Given the description of an element on the screen output the (x, y) to click on. 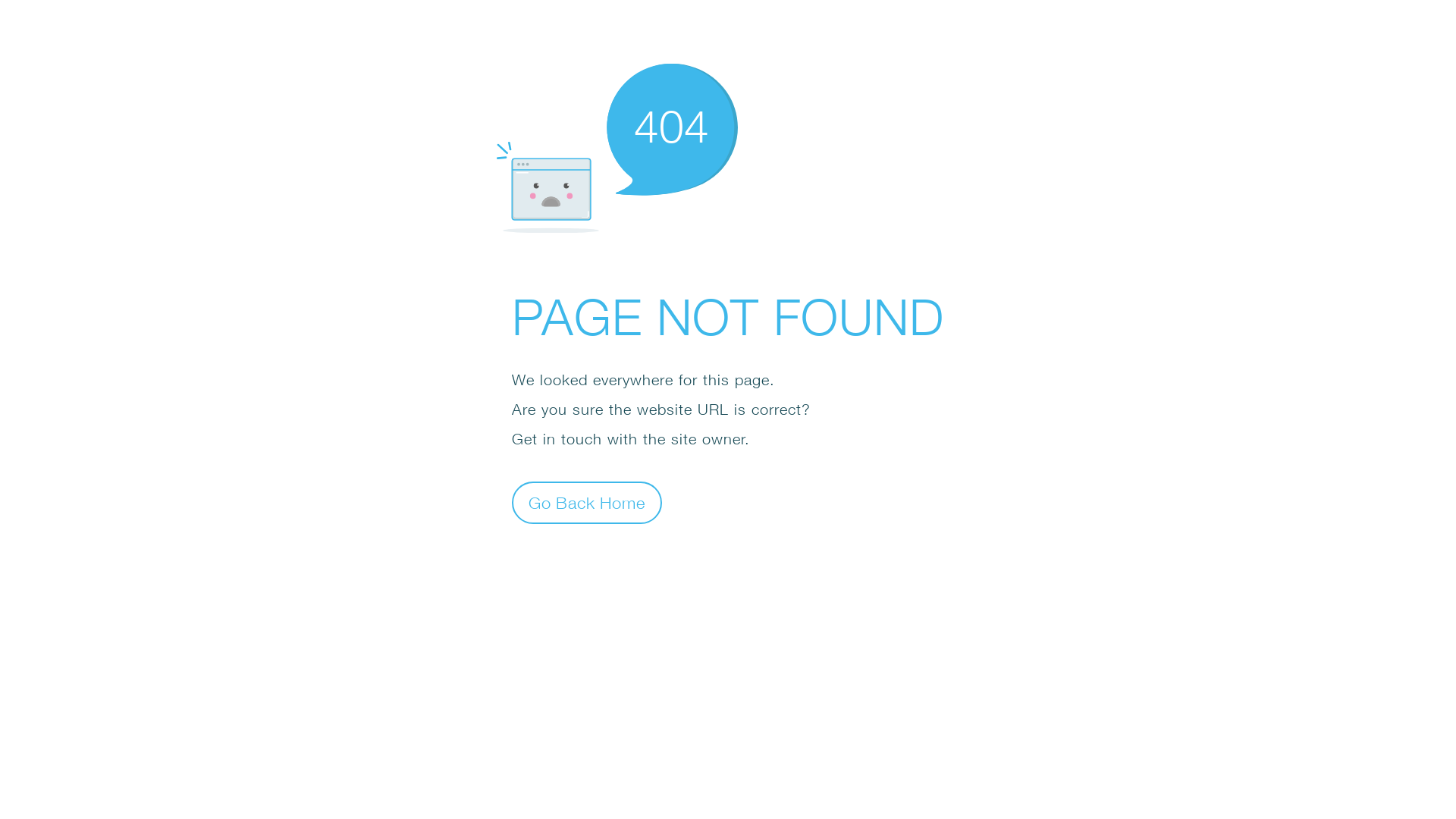
Go Back Home Element type: text (586, 502)
